Given the description of an element on the screen output the (x, y) to click on. 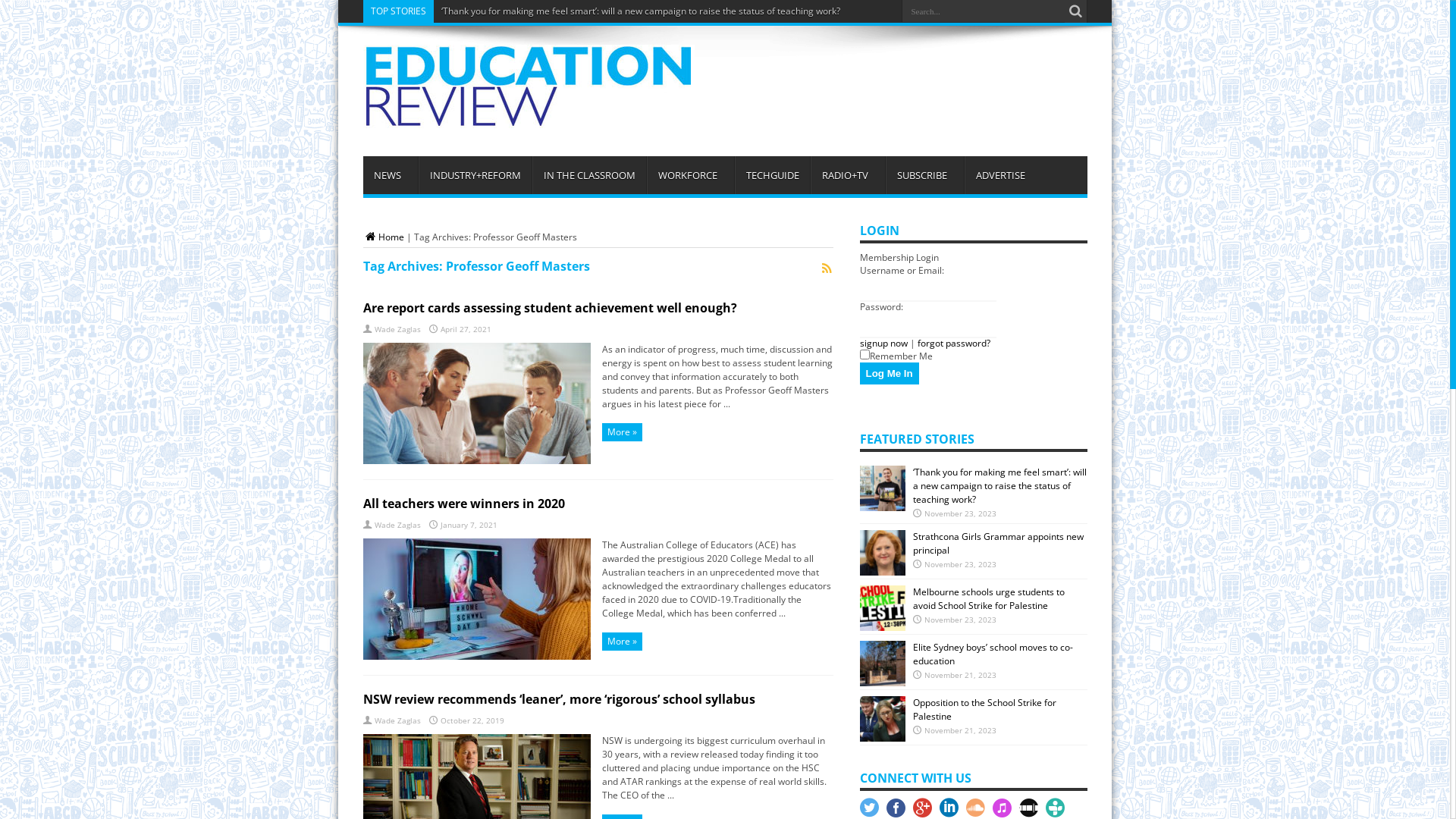
RADIO+TV Element type: text (846, 175)
Feed Subscription Element type: hover (826, 268)
SUBSCRIBE Element type: text (924, 175)
NEWS Element type: text (389, 175)
Log Me In Element type: text (889, 373)
Permalink to All teachers were winners in 2020 Element type: hover (475, 655)
Search Element type: text (1075, 11)
Home Element type: text (382, 236)
Wade Zaglas Element type: text (397, 328)
signup now Element type: text (883, 342)
Wade Zaglas Element type: text (397, 524)
INDUSTRY+REFORM Element type: text (474, 175)
Password Element type: hover (927, 324)
All teachers were winners in 2020 Element type: text (463, 503)
Username Element type: hover (927, 288)
Opposition to the School Strike for Palestine Element type: text (984, 709)
Wade Zaglas Element type: text (397, 720)
Strathcona Girls Grammar appoints new principal Element type: text (998, 543)
Permalink to Strathcona Girls Grammar appoints new principal Element type: hover (882, 571)
TECHGUIDE Element type: text (771, 175)
Permalink to Opposition to the School Strike for Palestine Element type: hover (882, 737)
IN THE CLASSROOM Element type: text (589, 175)
forgot password? Element type: text (953, 342)
Are report cards assessing student achievement well enough? Element type: text (549, 307)
WORKFORCE Element type: text (689, 175)
ADVERTISE Element type: text (999, 175)
Education Review Element type: hover (527, 115)
